Given the description of an element on the screen output the (x, y) to click on. 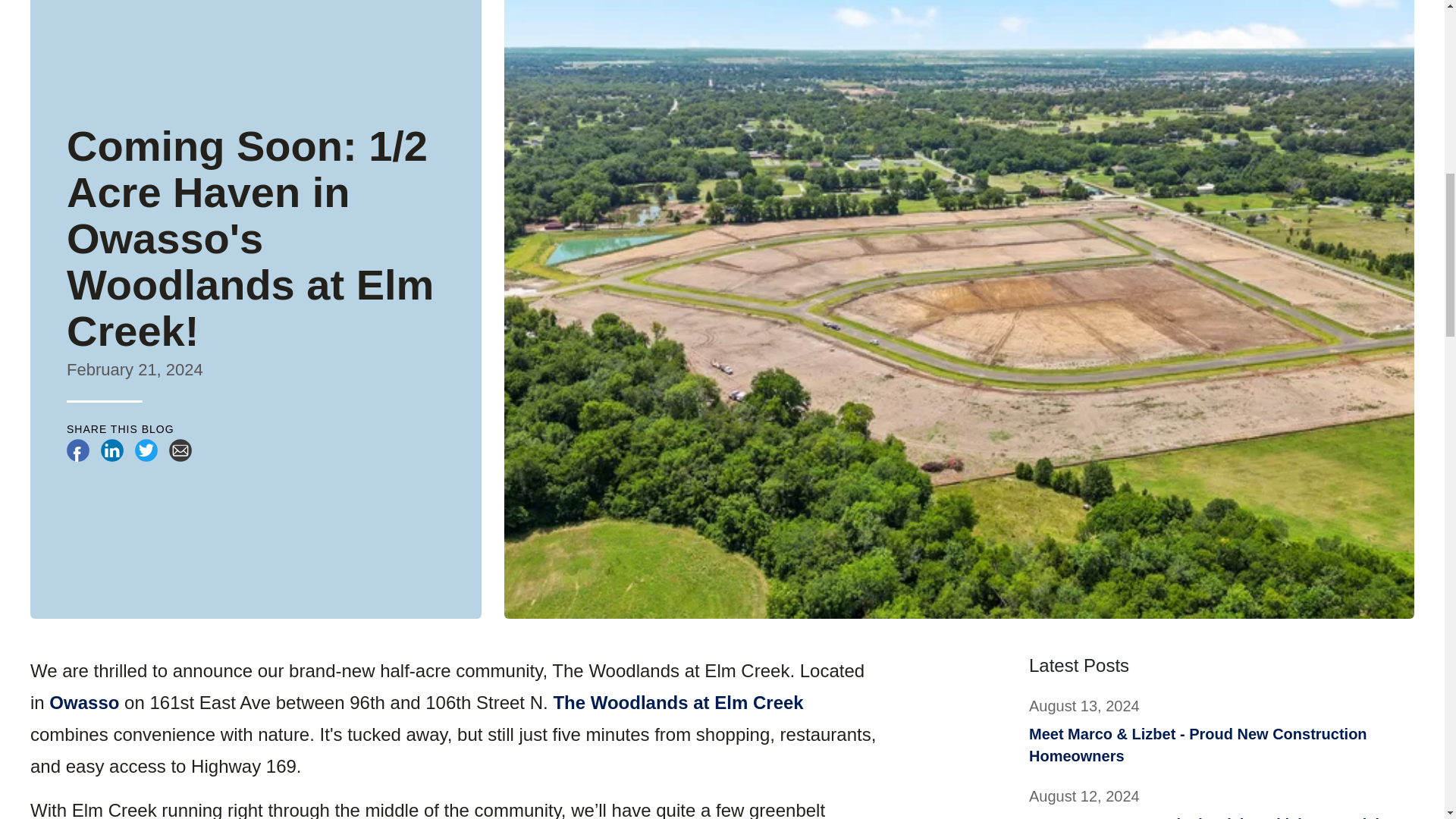
The Woodlands at Elm Creek (678, 702)
Owasso (84, 702)
